Given the description of an element on the screen output the (x, y) to click on. 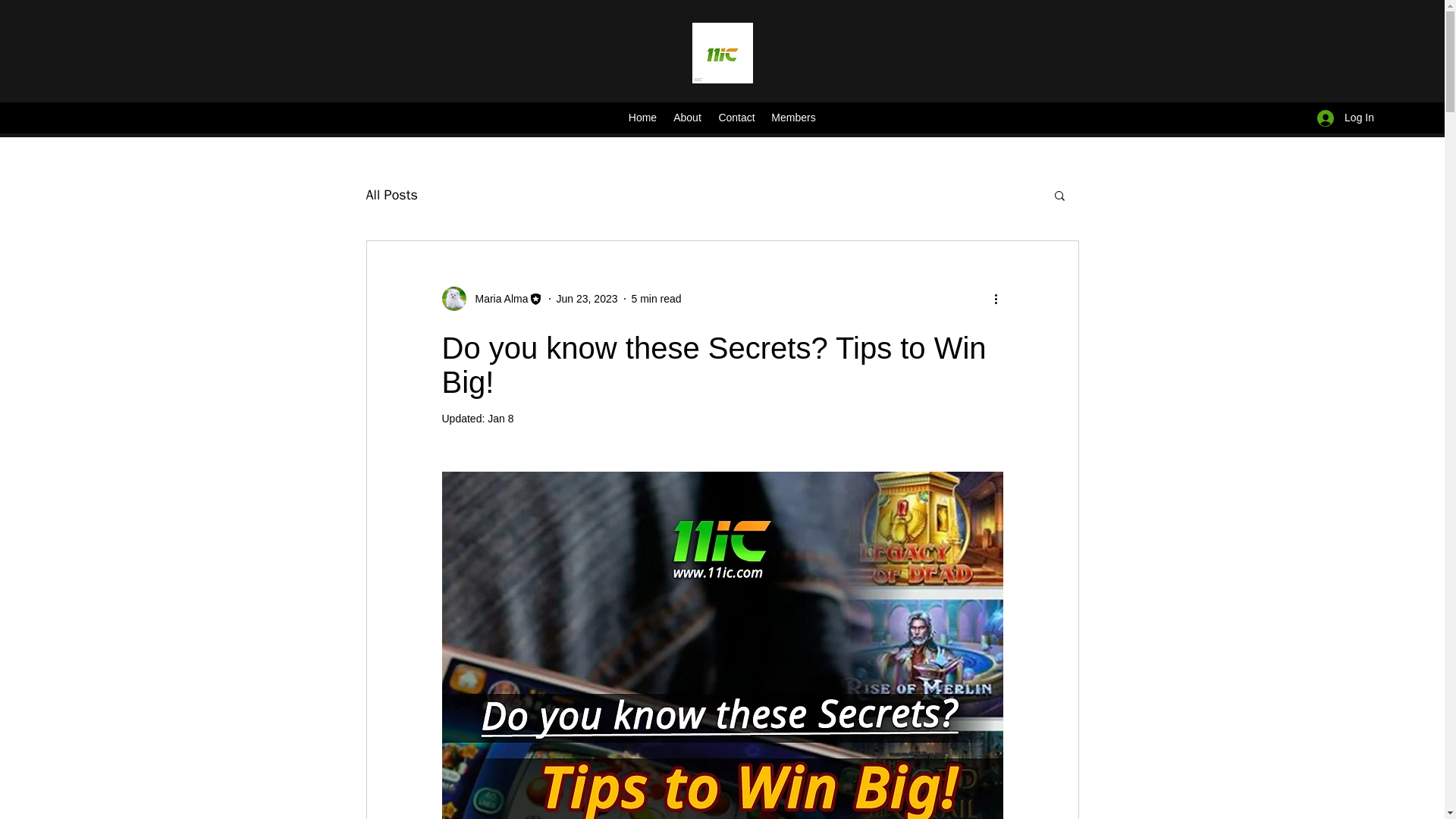
Maria Alma (496, 299)
Jan 8 (500, 418)
Contact (736, 117)
About (686, 117)
5 min read (655, 298)
Members (793, 117)
Maria Alma (491, 298)
Home (641, 117)
Jun 23, 2023 (586, 298)
Log In (1345, 117)
All Posts (390, 194)
